Given the description of an element on the screen output the (x, y) to click on. 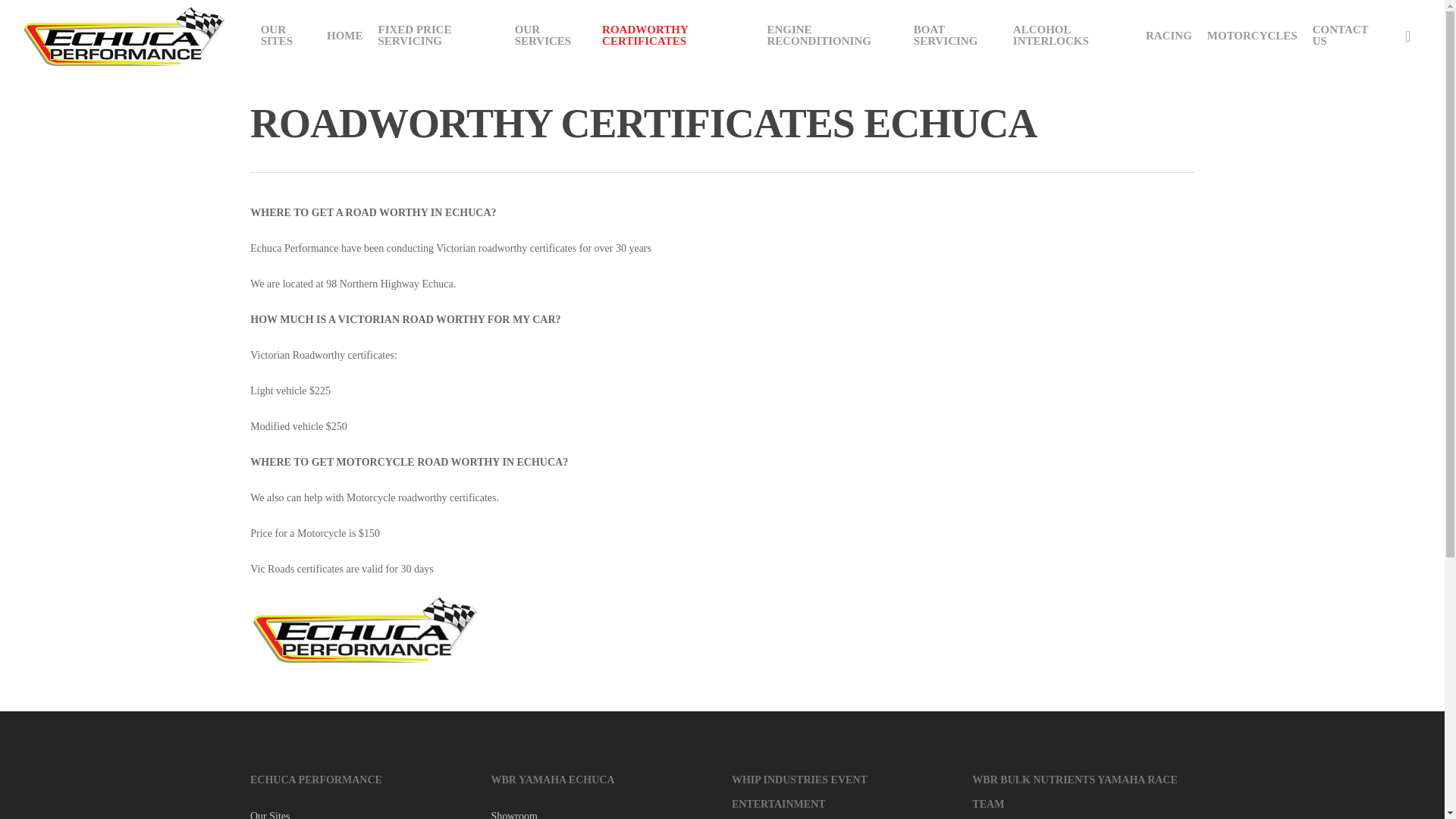
BOAT SERVICING (955, 35)
OUR SITES (285, 35)
OUR SERVICES (550, 35)
ALCOHOL INTERLOCKS (1072, 35)
HOME (344, 35)
FIXED PRICE SERVICING (438, 35)
RACING (1168, 35)
Our Sites (360, 812)
CONTACT US (1342, 35)
ENGINE RECONDITIONING (831, 35)
Showroom (601, 812)
ROADWORTHY CERTIFICATES (676, 35)
MOTORCYCLES (1251, 35)
